Given the description of an element on the screen output the (x, y) to click on. 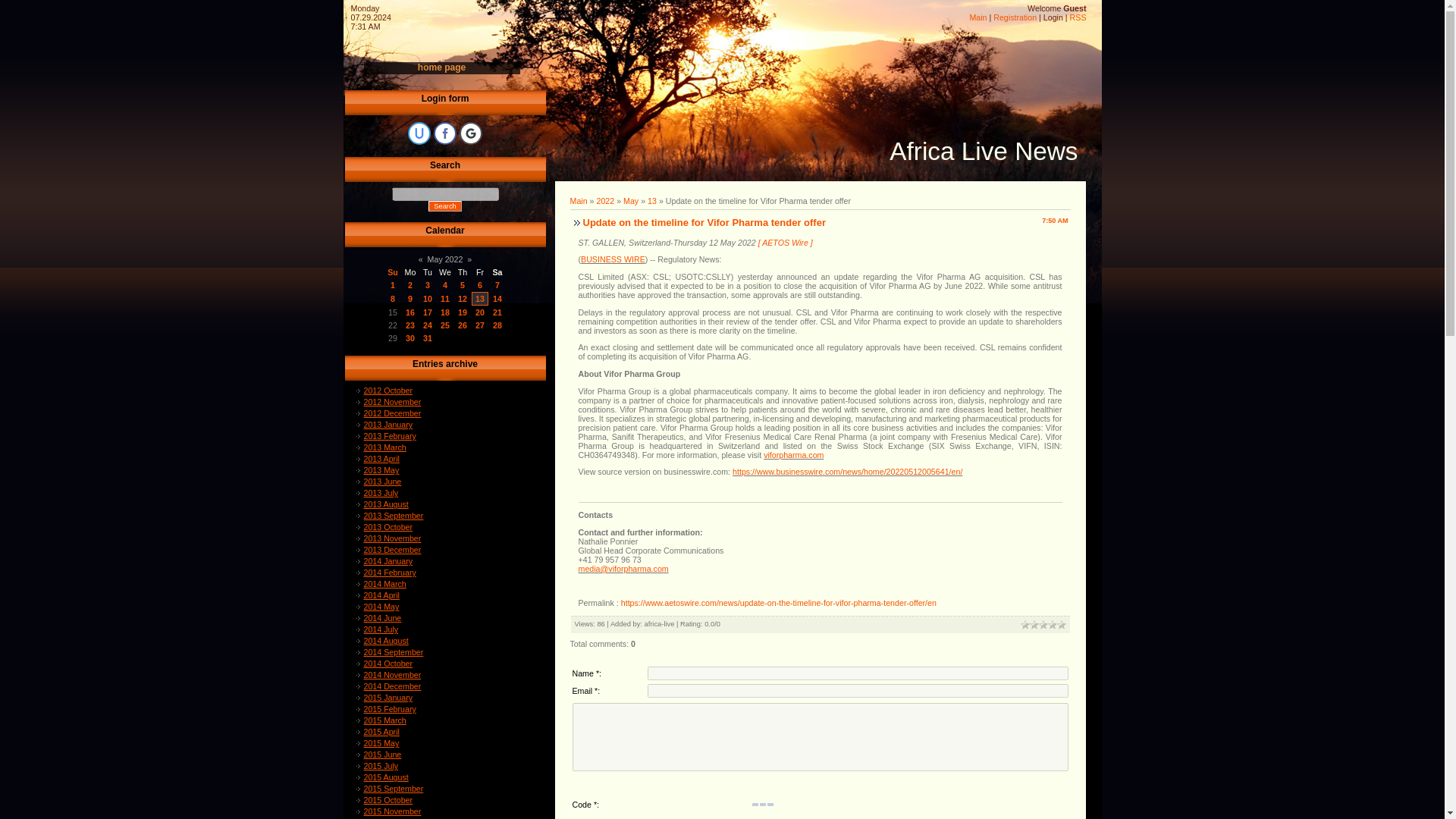
Search (444, 205)
9 Messages (462, 284)
1 Messages (392, 298)
5 Messages (427, 298)
Log in with uID (418, 133)
May 2022 (445, 258)
24 (427, 325)
RSS (1078, 17)
23 (410, 325)
Search (444, 205)
Login (1052, 17)
8 (392, 298)
11 Messages (480, 298)
21 (497, 311)
30 (410, 338)
